Given the description of an element on the screen output the (x, y) to click on. 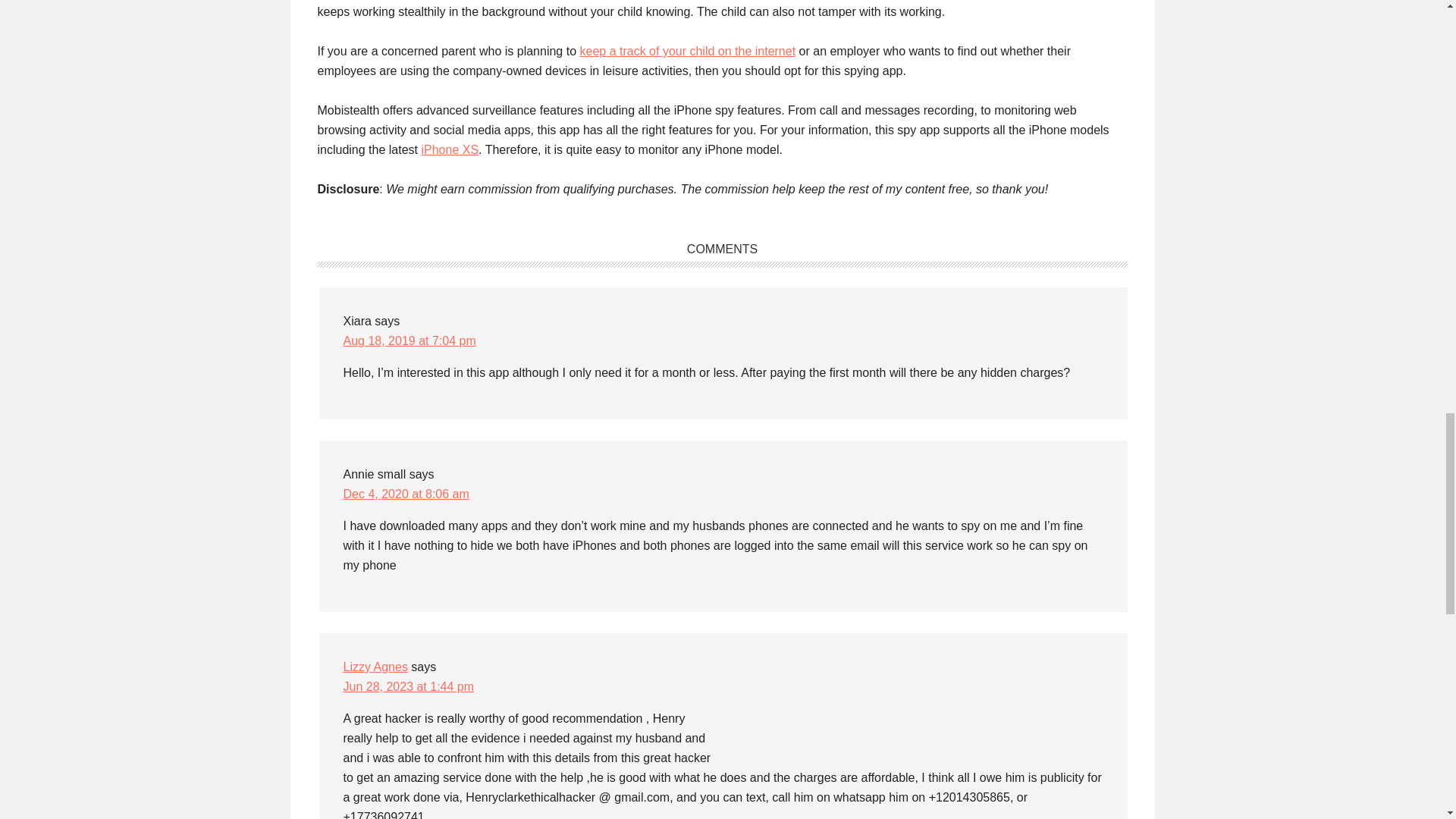
Lizzy Agnes (374, 666)
Dec 4, 2020 at 8:06 am (405, 493)
Jun 28, 2023 at 1:44 pm (408, 686)
iPhone XS (449, 149)
Aug 18, 2019 at 7:04 pm (409, 340)
keep a track of your child on the internet (686, 51)
